Given the description of an element on the screen output the (x, y) to click on. 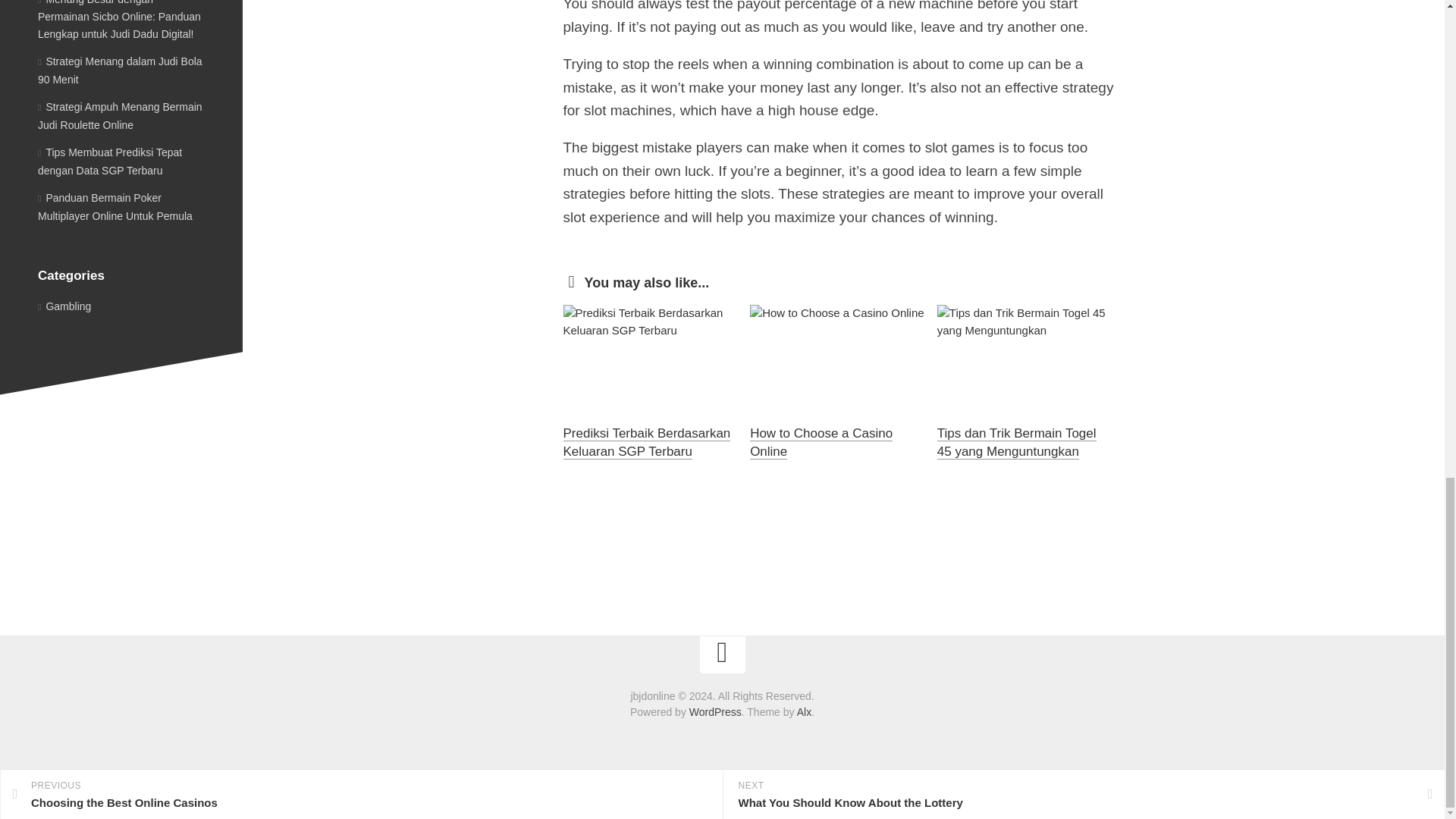
How to Choose a Casino Online (820, 441)
Tips dan Trik Bermain Togel 45 yang Menguntungkan (1016, 441)
Prediksi Terbaik Berdasarkan Keluaran SGP Terbaru (646, 441)
